Given the description of an element on the screen output the (x, y) to click on. 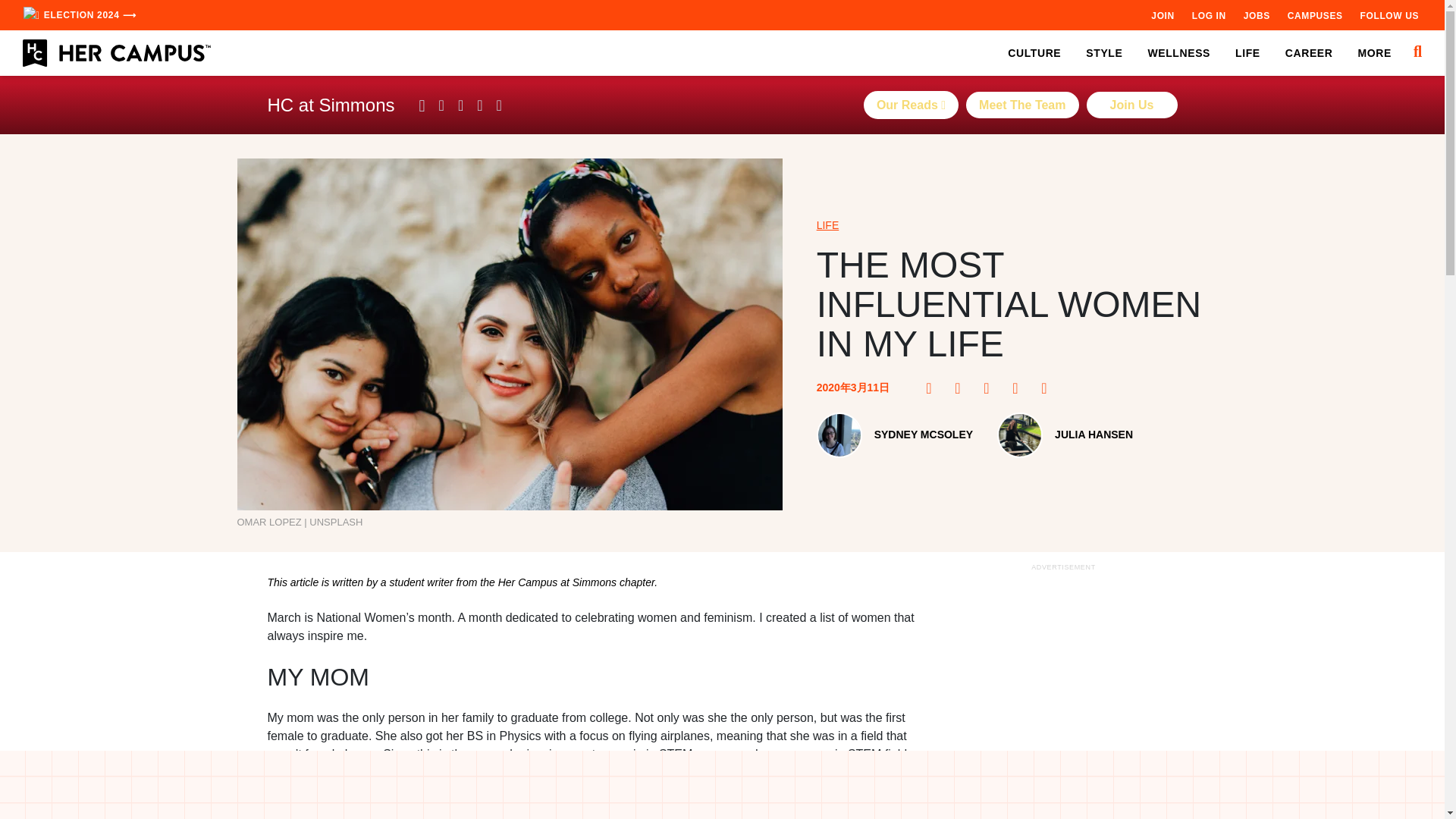
LOG IN (1208, 15)
JOBS (1256, 15)
LinkedIn (1019, 388)
JOIN (1162, 15)
Email (1049, 388)
CAMPUSES (1314, 15)
Facebook (933, 388)
Pinterest (962, 388)
Twitter (991, 388)
